Given the description of an element on the screen output the (x, y) to click on. 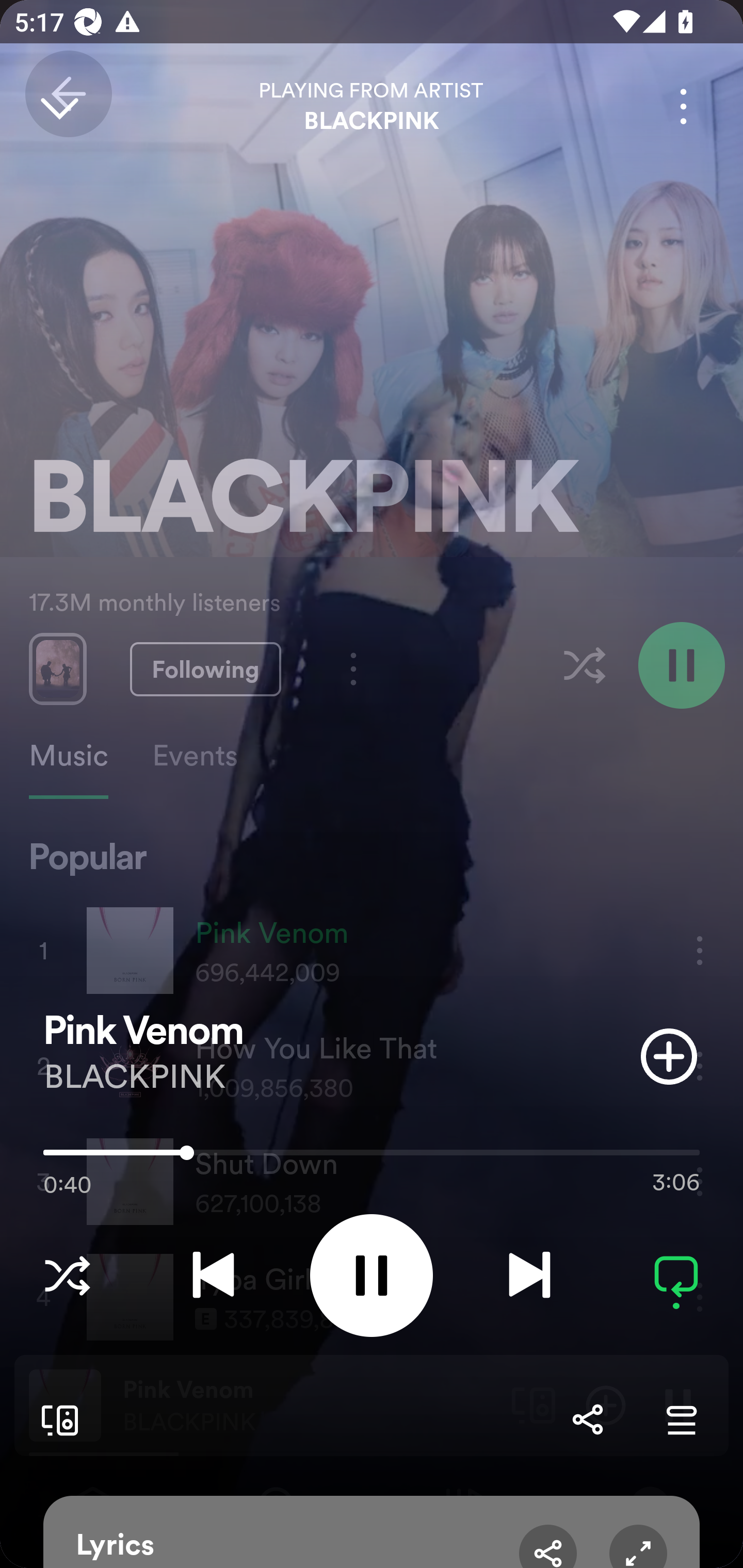
Close (59, 106)
More options for song Pink Venom (683, 106)
PLAYING FROM ARTIST BLACKPINK (371, 106)
Add item (669, 1056)
0:40 3:06 40610.0 Use volume keys to adjust (371, 1157)
Pause (371, 1275)
Previous (212, 1275)
Next (529, 1275)
Choose a Listening Mode (66, 1275)
Repeat (676, 1275)
Share (587, 1419)
Go to Queue (681, 1419)
Connect to a device. Opens the devices menu (55, 1419)
Lyrics Share Expand (371, 1531)
Share (547, 1546)
Expand (638, 1546)
